Given the description of an element on the screen output the (x, y) to click on. 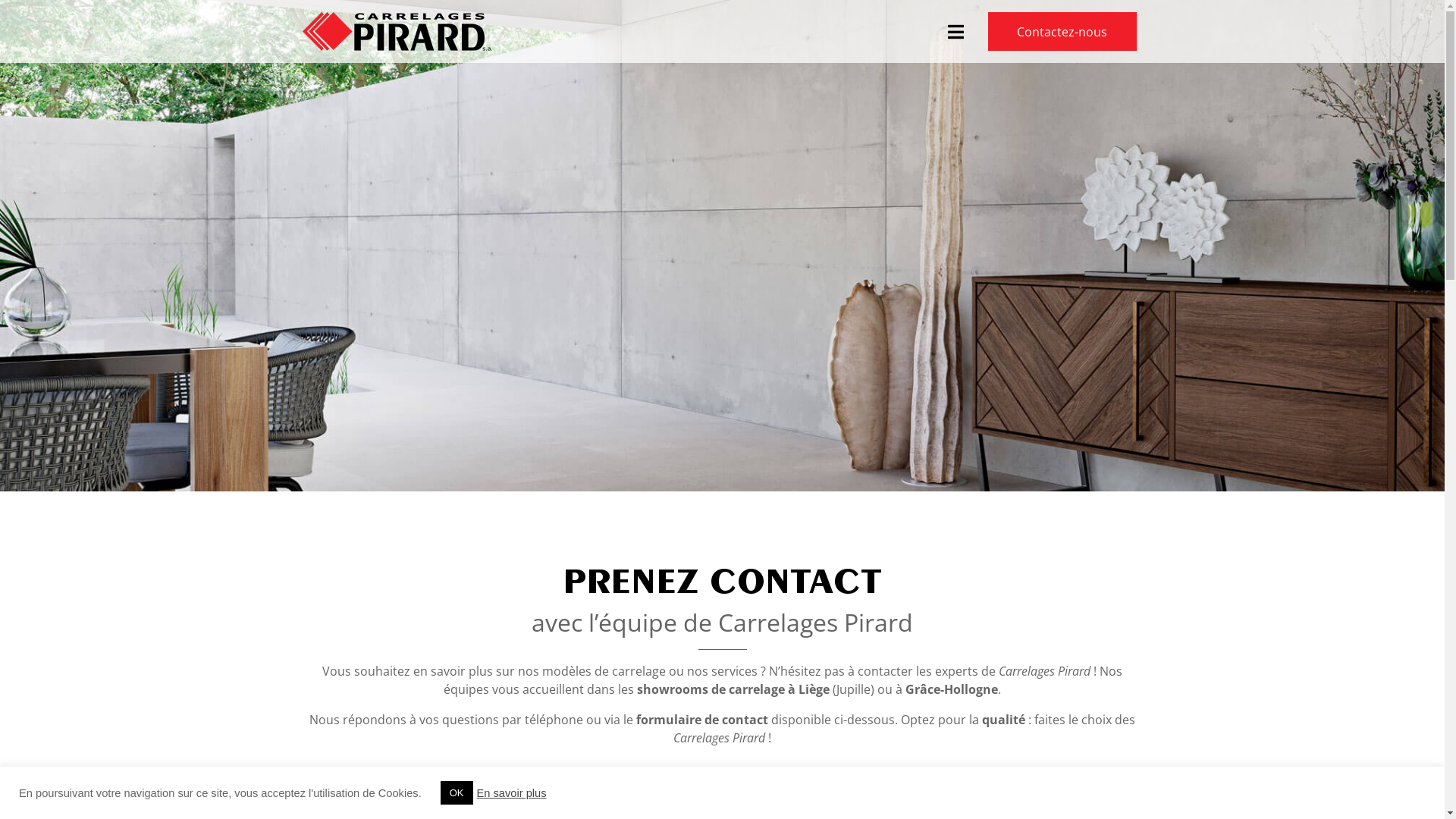
Contactez-nous Element type: text (1062, 31)
En savoir plus Element type: text (511, 792)
OK Element type: text (456, 792)
